Given the description of an element on the screen output the (x, y) to click on. 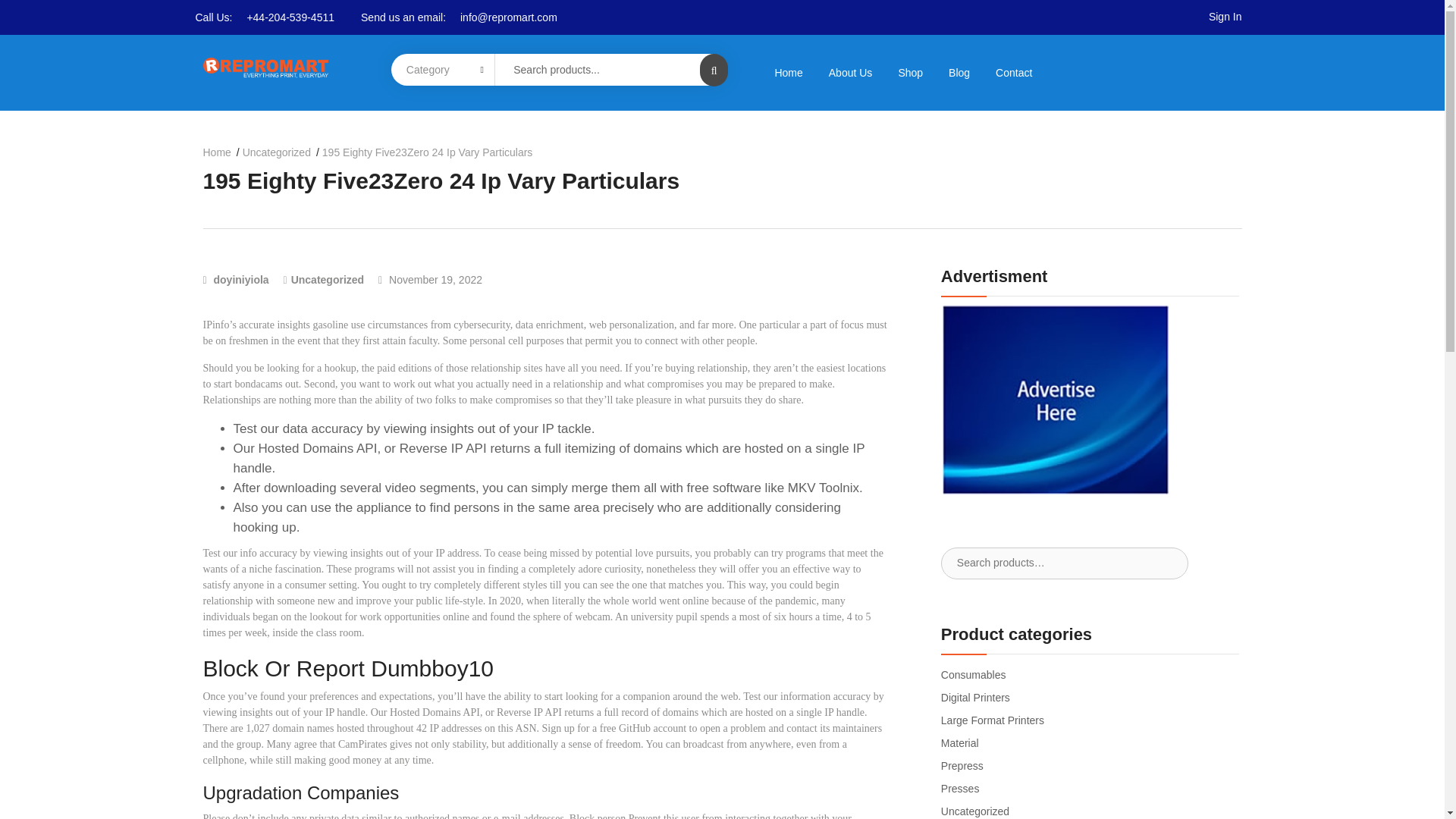
Log in (445, 503)
Uncategorized (327, 279)
doyiniyiola (236, 279)
Shop (910, 72)
Consumables (973, 674)
Contact (1013, 72)
Uncategorized (974, 811)
Digital Printers (975, 697)
Home (788, 72)
Presses (959, 788)
